Given the description of an element on the screen output the (x, y) to click on. 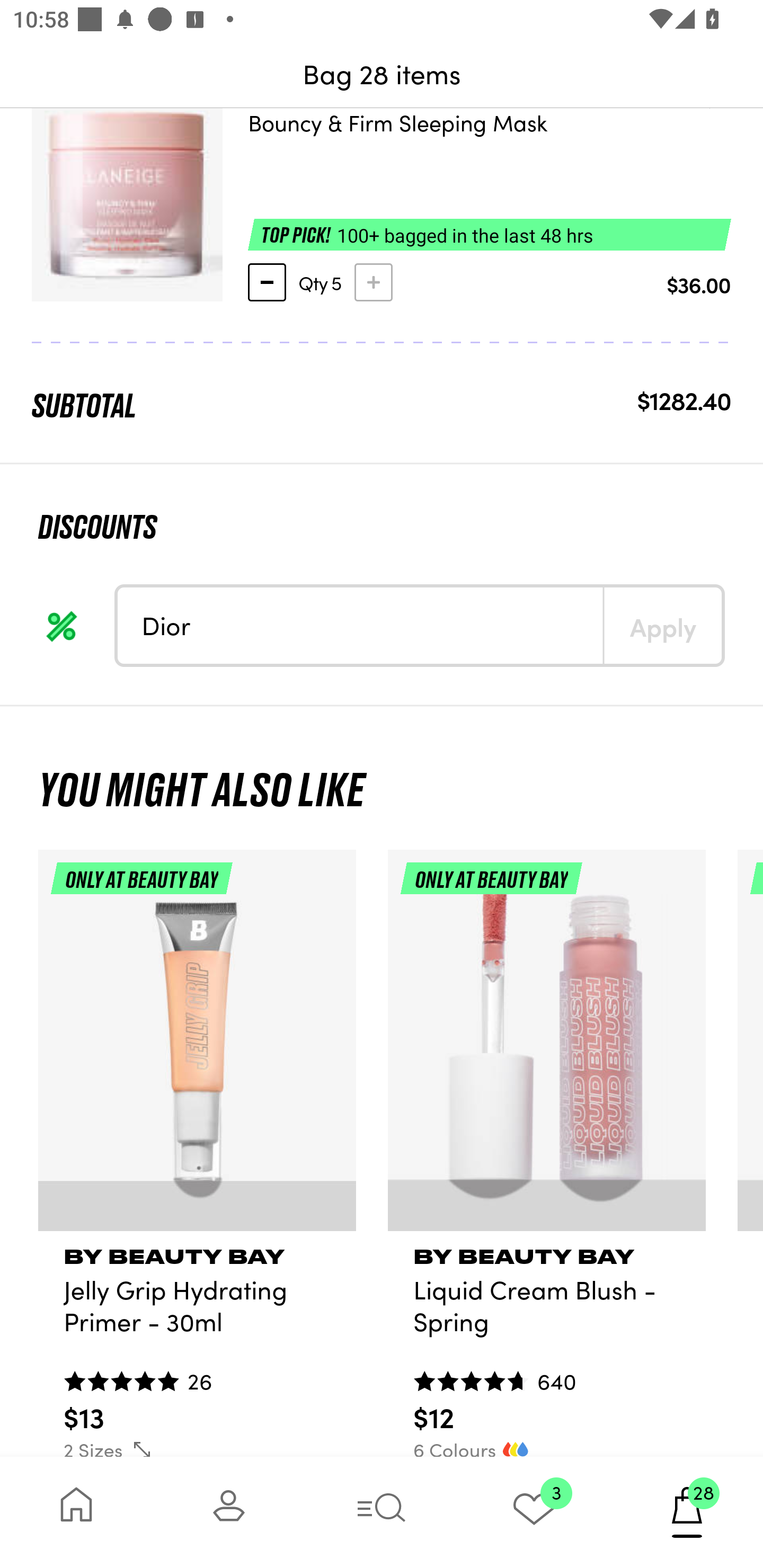
Dior (360, 625)
Apply (661, 625)
ONLY AT BEAUTY BAY (197, 1047)
ONLY AT BEAUTY BAY (546, 1047)
3 (533, 1512)
28 (686, 1512)
